Given the description of an element on the screen output the (x, y) to click on. 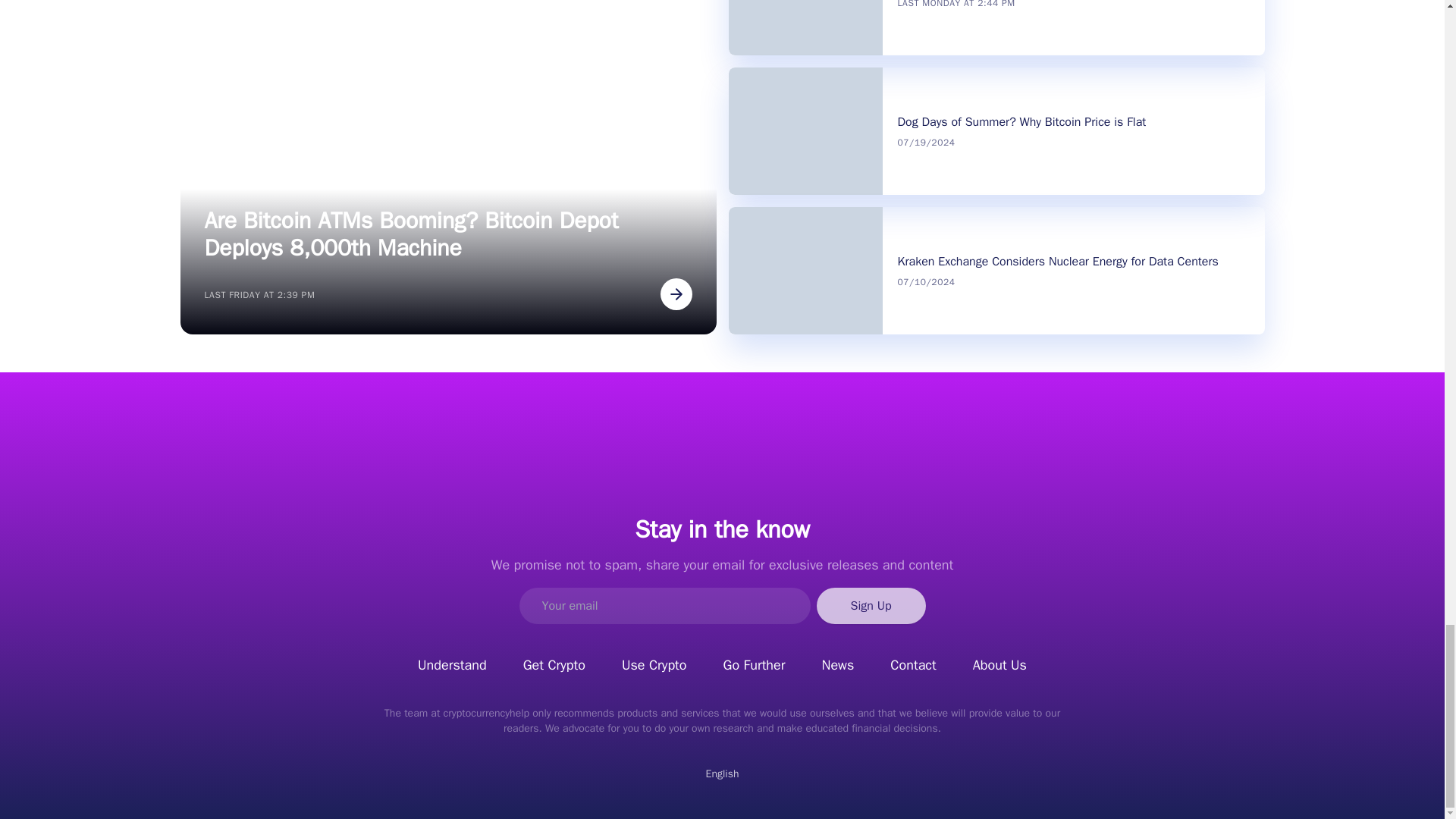
Dog Days of Summer? Why Bitcoin Price is Flat (1022, 121)
Kraken Exchange Considers Nuclear Energy for Data Centers (1058, 261)
